Given the description of an element on the screen output the (x, y) to click on. 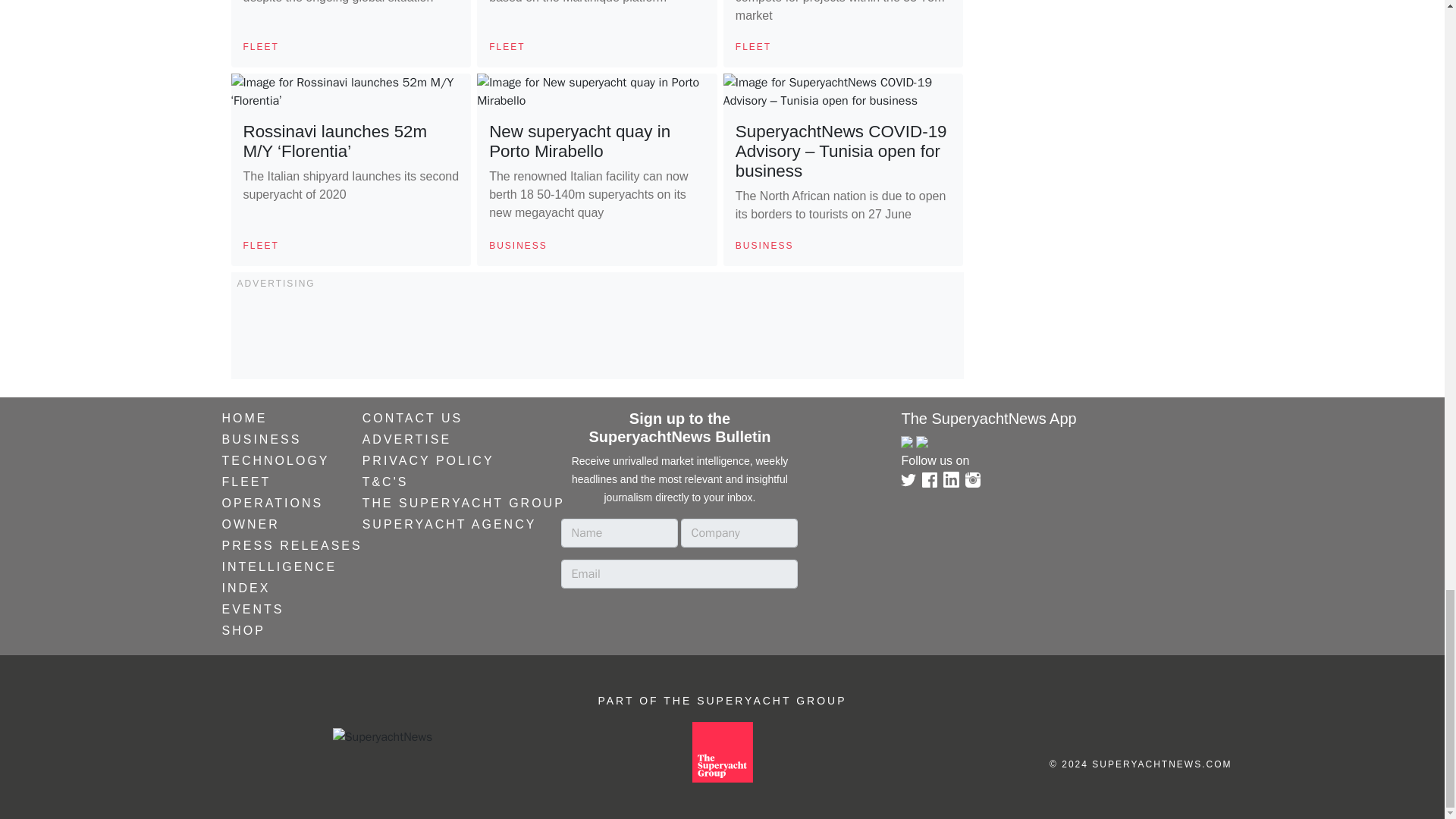
New superyacht quay in Porto Mirabello (579, 141)
